Given the description of an element on the screen output the (x, y) to click on. 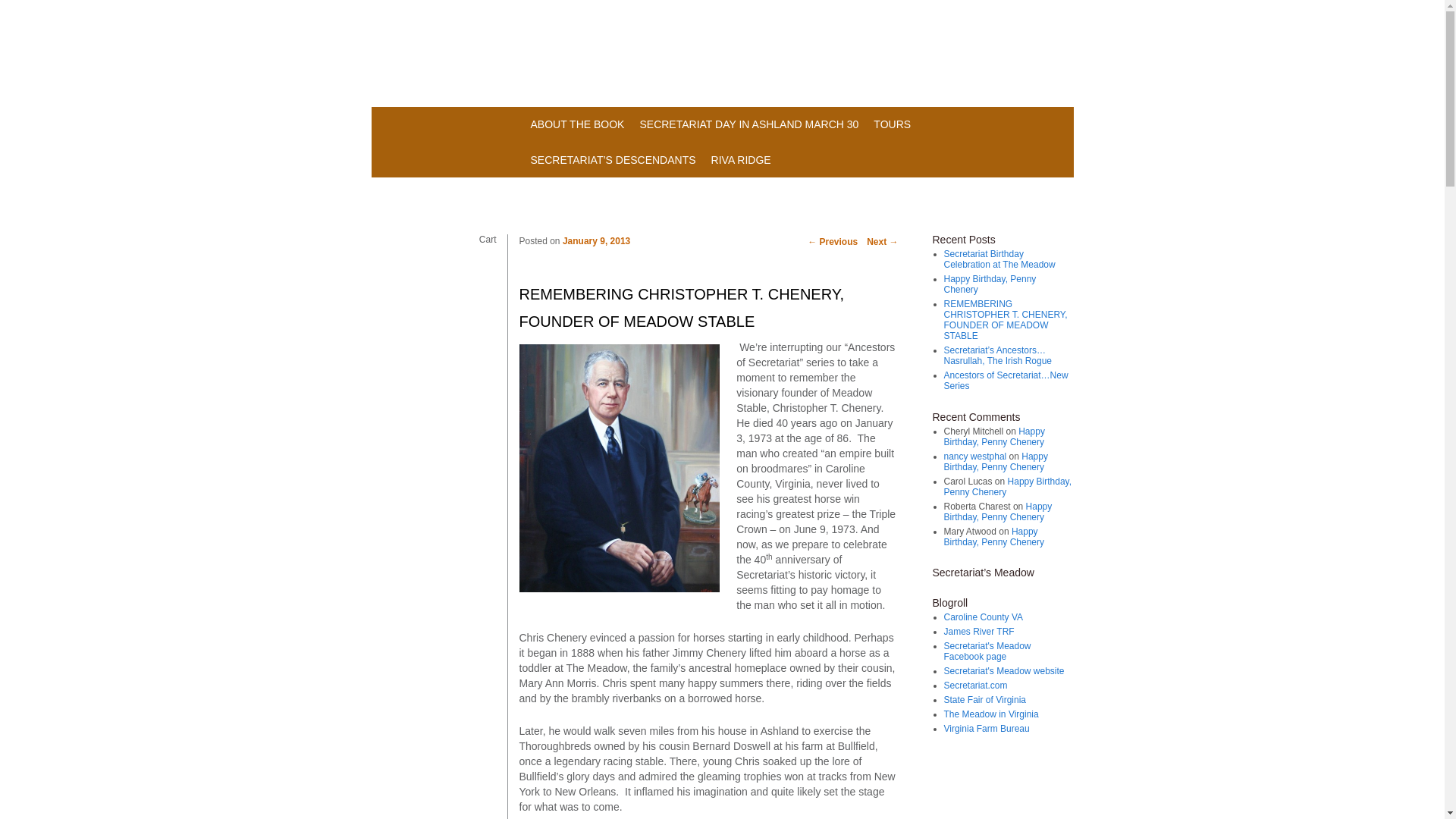
Secretariat.com (975, 685)
Caroline County VA (983, 616)
Secretariat's Meadow Facebook page (986, 650)
State Fair of Virginia (984, 699)
REMEMBERING CHRISTOPHER T. CHENERY, FOUNDER OF MEADOW STABLE (1005, 319)
Happy Birthday, Penny Chenery (993, 536)
Secretariat Birthday Celebration at The Meadow (998, 259)
Secretariat's Meadow website (1003, 670)
SKIP TO SECONDARY CONTENT (600, 122)
nancy westphal (974, 456)
